Given the description of an element on the screen output the (x, y) to click on. 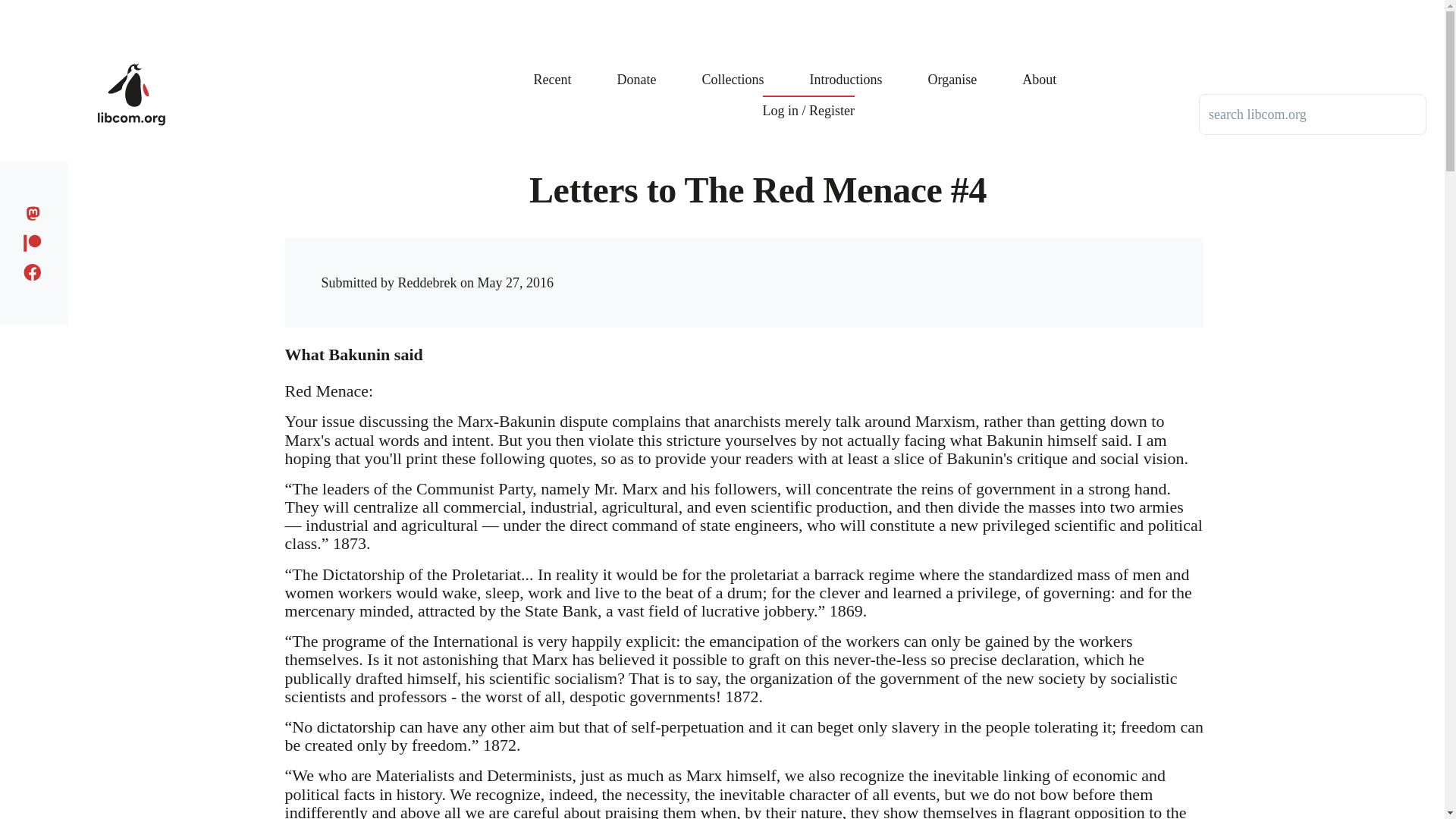
Introductions (845, 68)
Share to Facebook (914, 268)
Collections (732, 68)
Organise (952, 68)
Like us on facebook (36, 269)
Skip to main content (595, 6)
Share to Twitter (945, 268)
Support us on patreon (36, 239)
Share to Reddit (975, 268)
Follow us on Mastodon (36, 210)
